Given the description of an element on the screen output the (x, y) to click on. 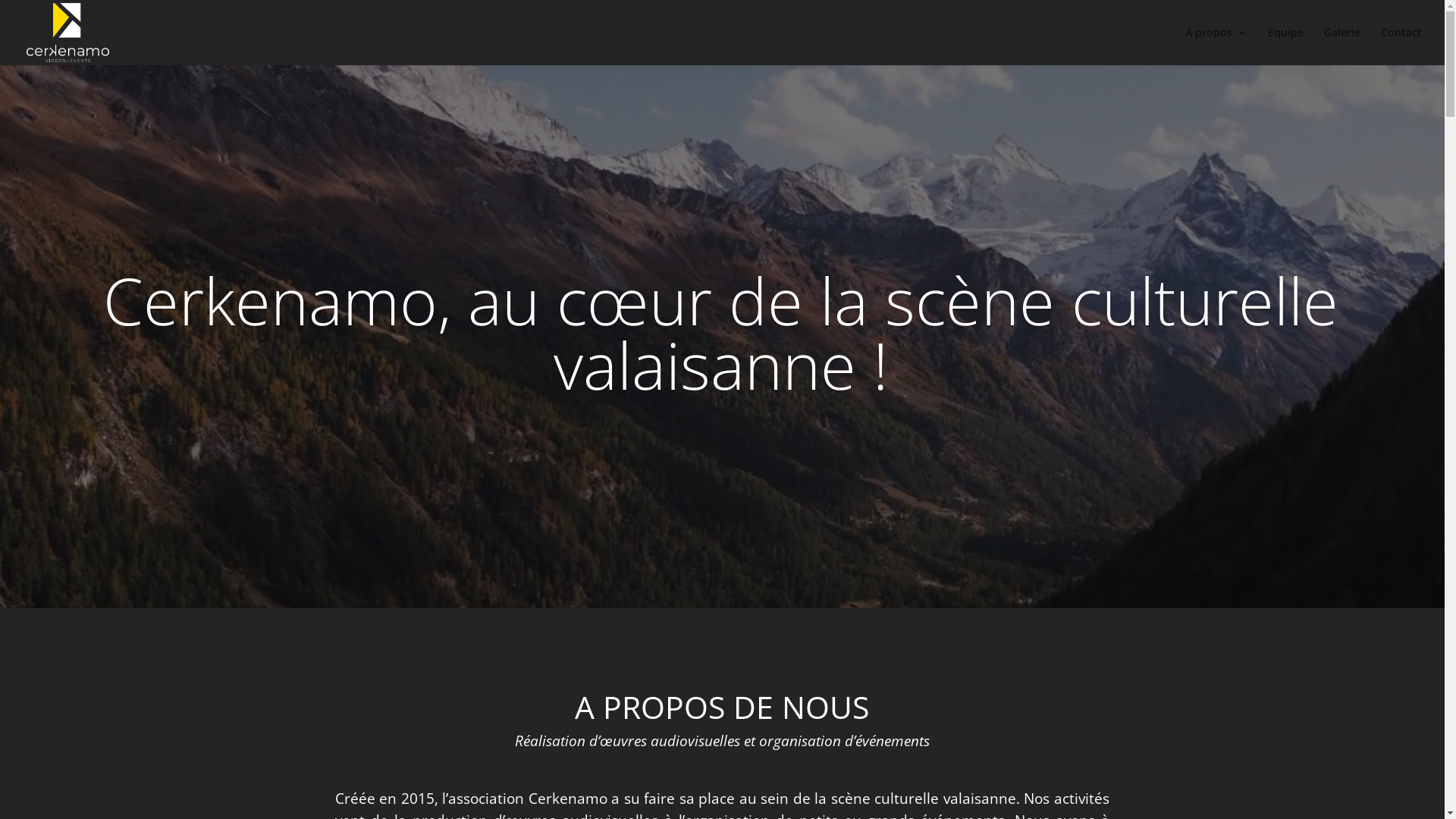
Equipe Element type: text (1285, 46)
Galerie Element type: text (1342, 46)
Contact Element type: text (1400, 46)
A propos Element type: text (1216, 46)
